Given the description of an element on the screen output the (x, y) to click on. 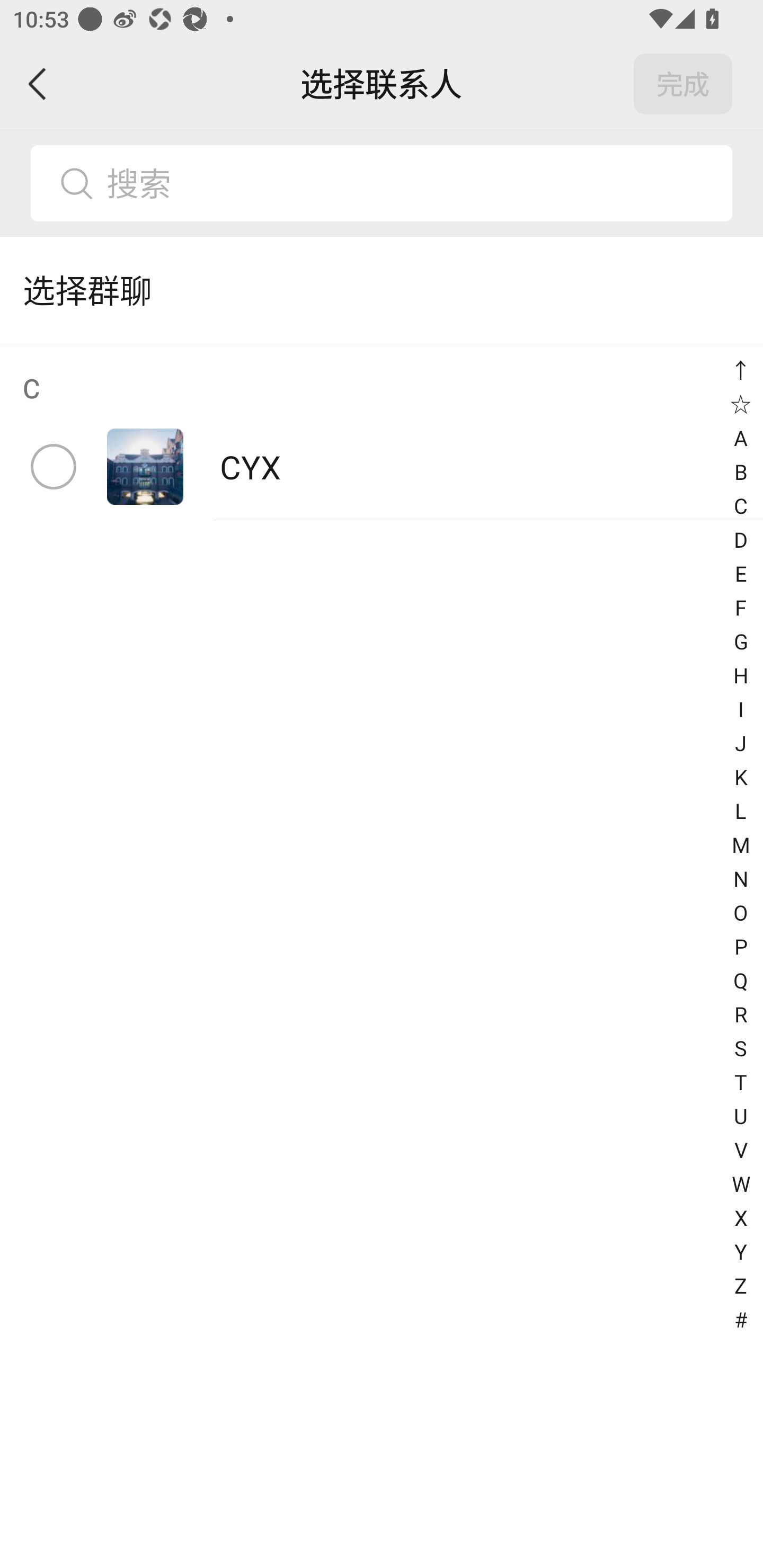
返回 (38, 83)
完成 (683, 83)
搜索 (381, 183)
搜索 (411, 183)
选择群聊 (381, 290)
C CYX (381, 432)
